Given the description of an element on the screen output the (x, y) to click on. 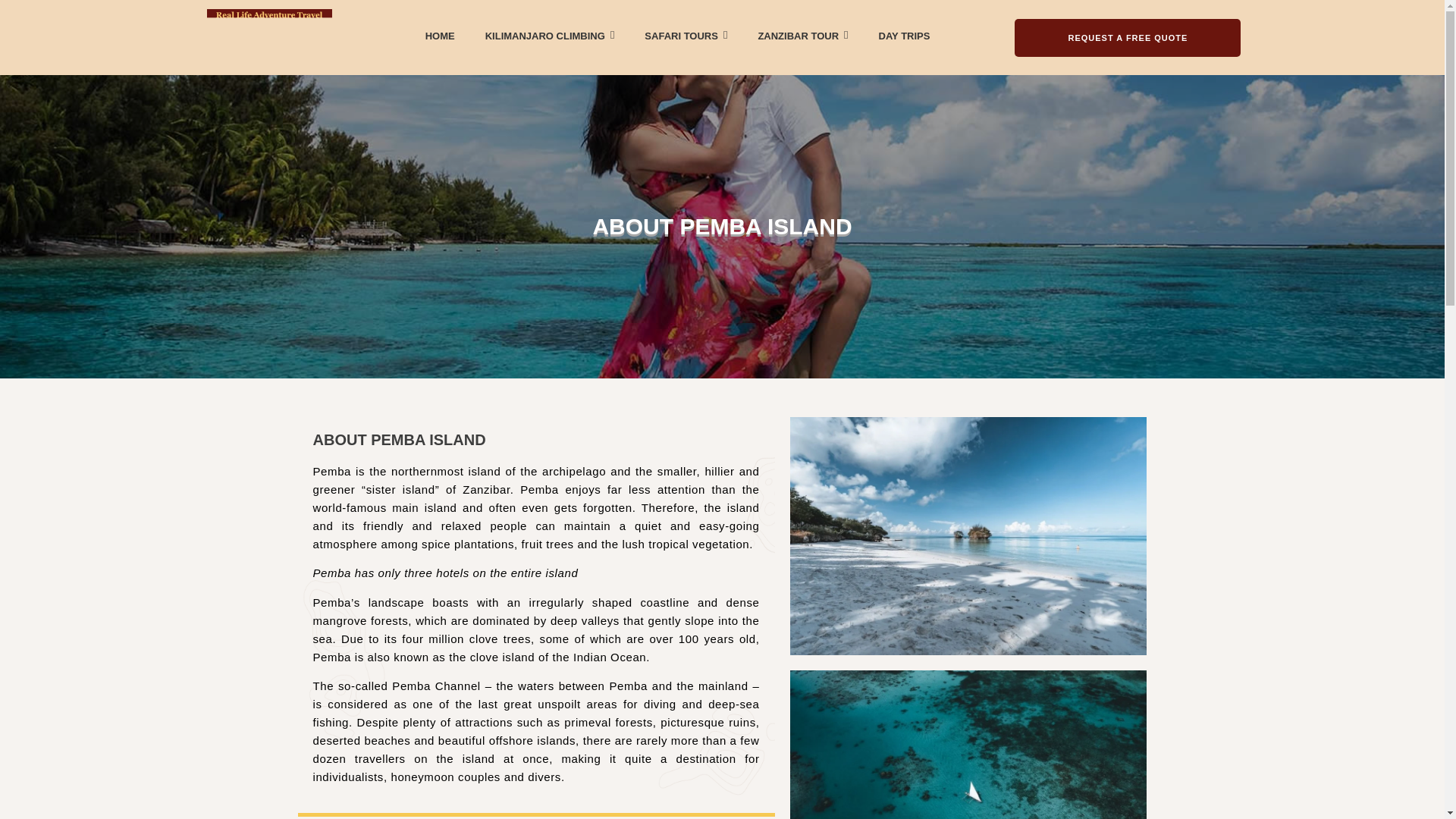
HOME (439, 35)
SAFARI TOURS (685, 35)
KILIMANJARO CLIMBING (549, 35)
ZANZIBAR TOUR (802, 35)
DAY TRIPS (904, 35)
